Given the description of an element on the screen output the (x, y) to click on. 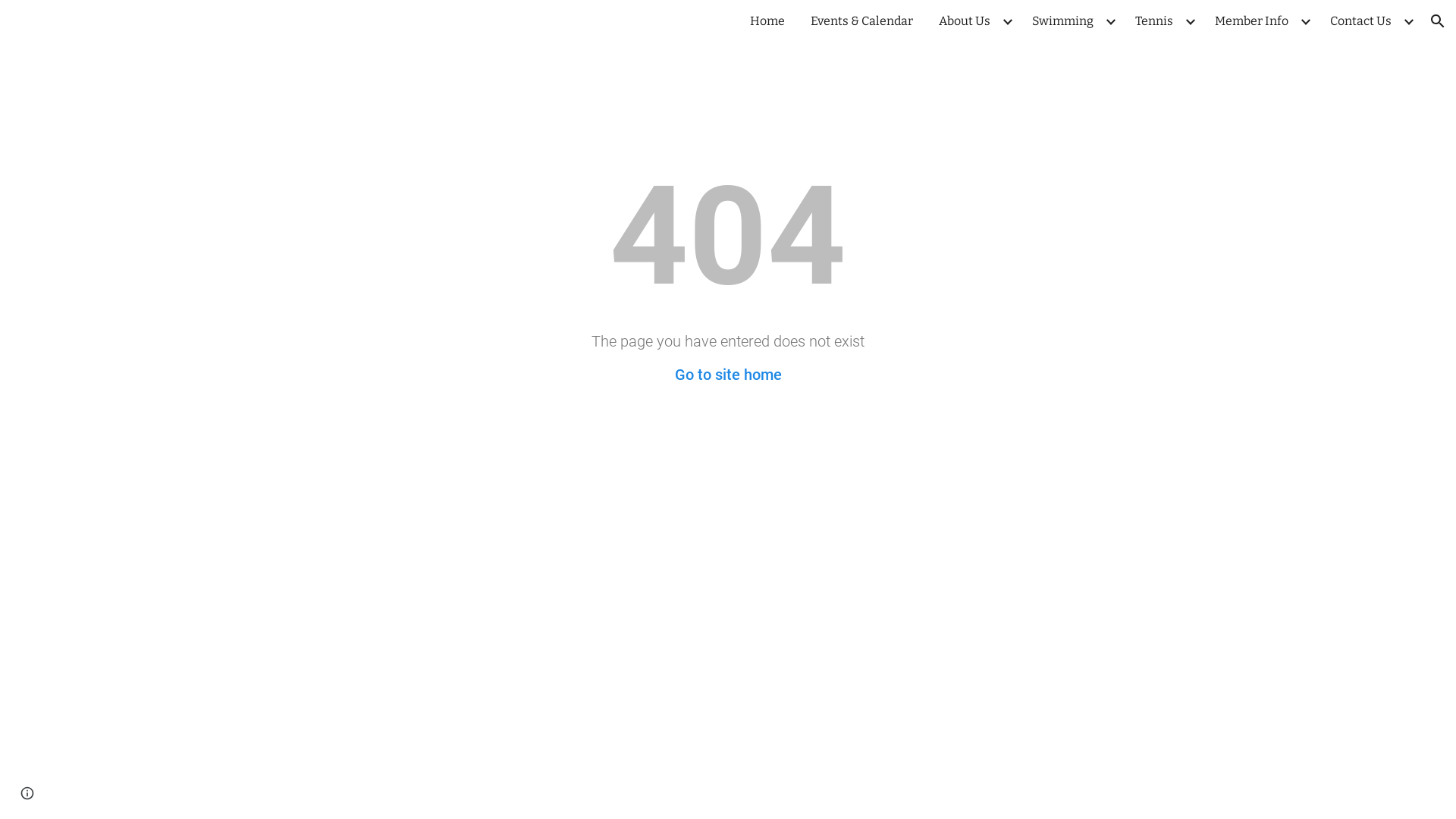
Member Info Element type: text (1251, 20)
Expand/Collapse Element type: hover (1110, 20)
Events & Calendar Element type: text (861, 20)
Expand/Collapse Element type: hover (1189, 20)
Expand/Collapse Element type: hover (1408, 20)
Go to site home Element type: text (727, 374)
Home Element type: text (767, 20)
About Us Element type: text (964, 20)
Contact Us Element type: text (1360, 20)
Swimming Element type: text (1062, 20)
Expand/Collapse Element type: hover (1304, 20)
Expand/Collapse Element type: hover (1006, 20)
Tennis Element type: text (1153, 20)
